Given the description of an element on the screen output the (x, y) to click on. 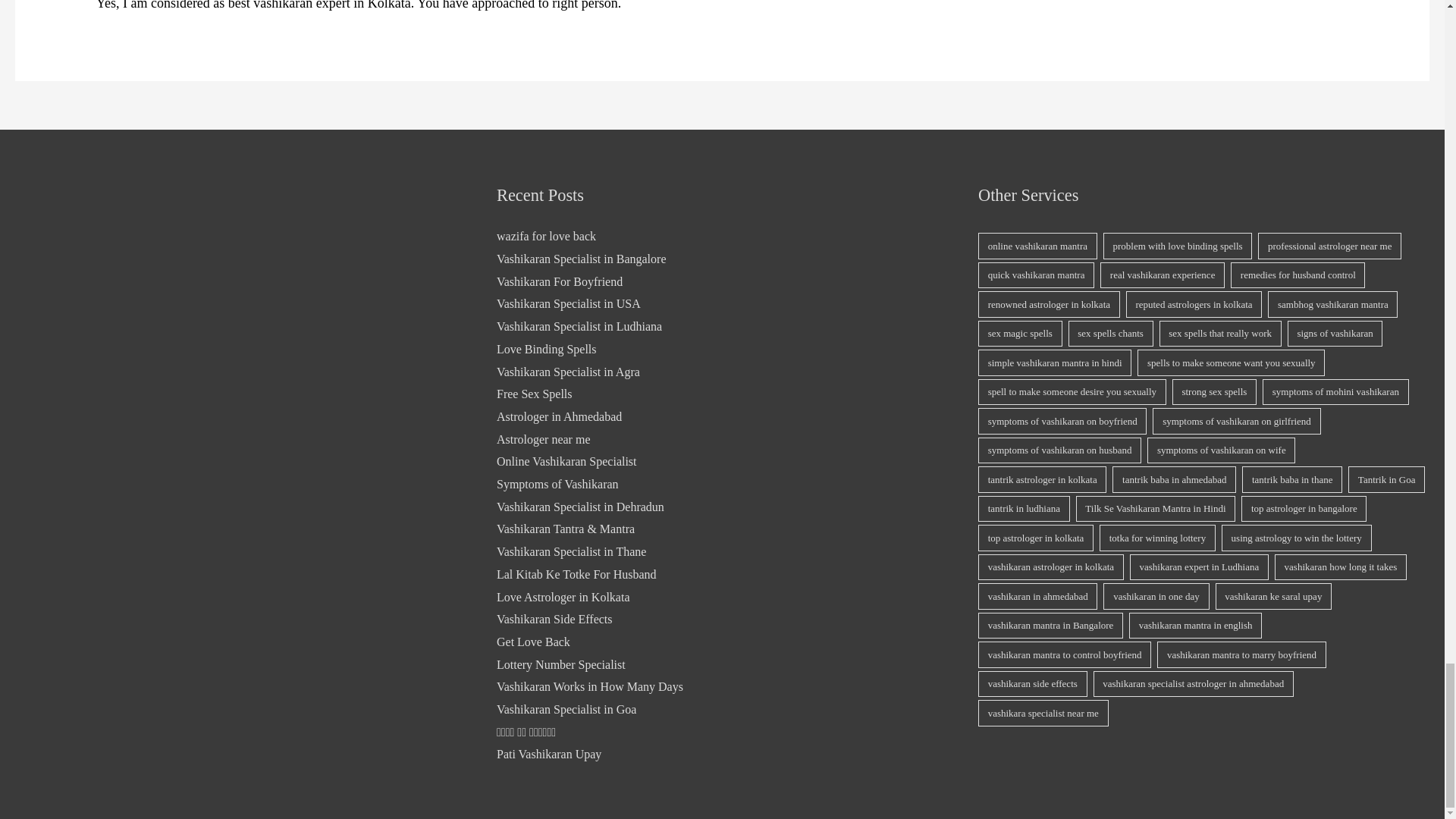
Online Vashikaran Specialist (566, 461)
Vashikaran Specialist in Agra (568, 370)
Symptoms of Vashikaran (557, 483)
Astrologer in Ahmedabad (558, 416)
wazifa for love back (545, 236)
Vashikaran Specialist in Dehradun (579, 506)
Vashikaran Side Effects (554, 618)
Love Astrologer in Kolkata (563, 596)
Astrologer near me (543, 439)
Vashikaran For Boyfriend (559, 281)
